Given the description of an element on the screen output the (x, y) to click on. 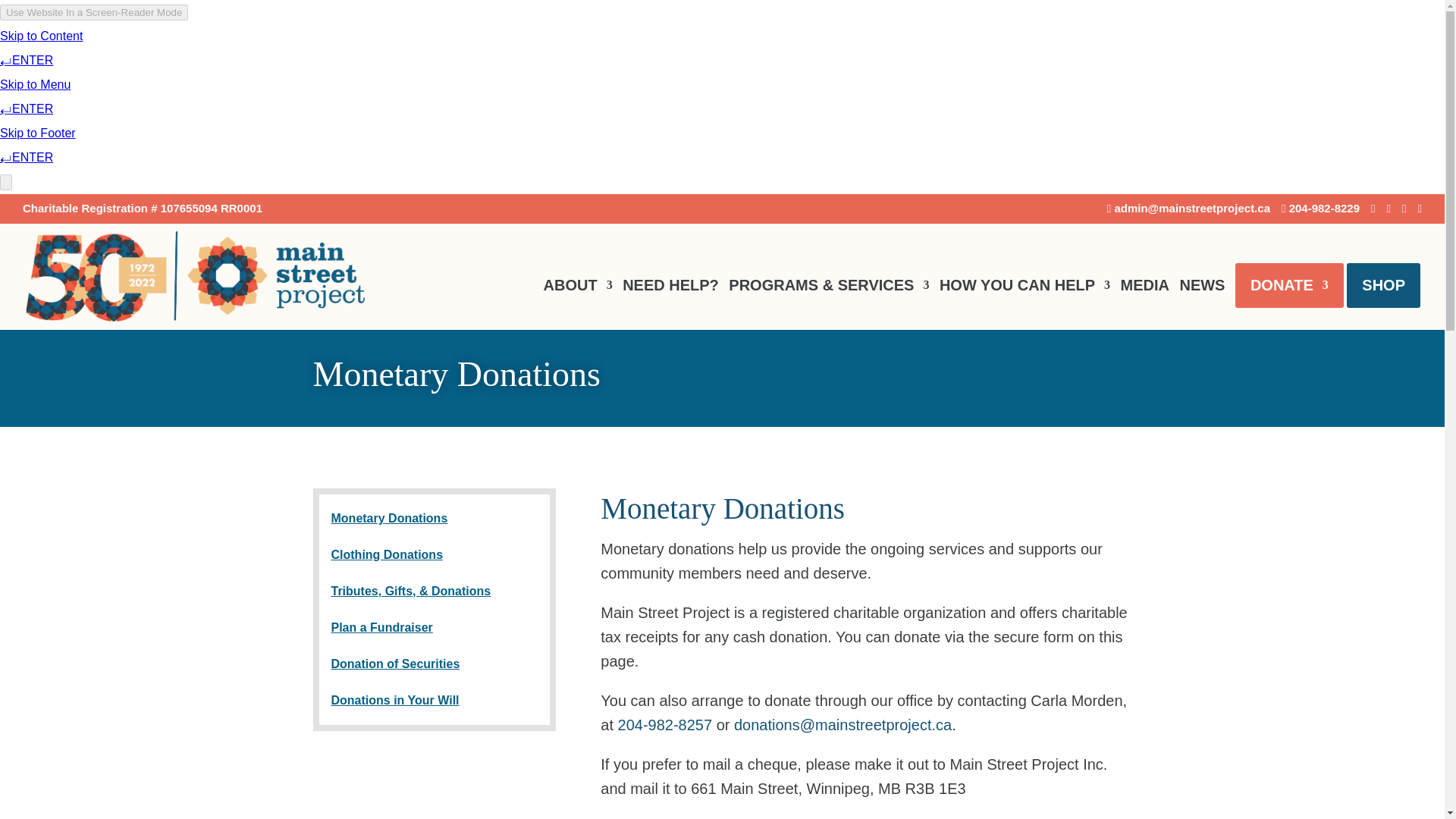
DONATE (1288, 304)
ABOUT (577, 304)
MEDIA (1145, 304)
HOW YOU CAN HELP (1024, 304)
NEED HELP? (671, 304)
NEWS (1201, 304)
204-982-8229 (1320, 212)
